Given the description of an element on the screen output the (x, y) to click on. 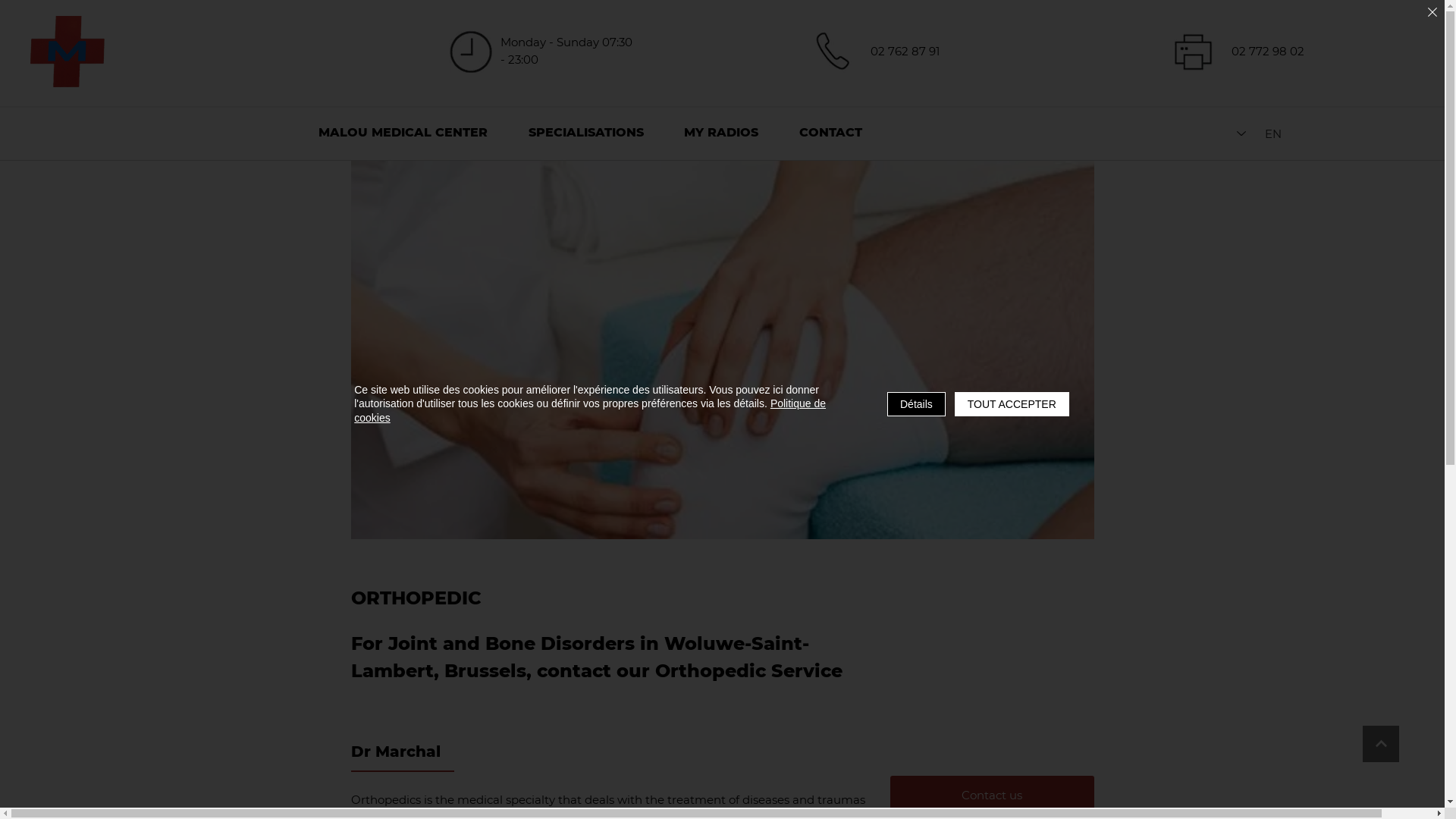
Politique de cookies Element type: text (589, 410)
MY RADIOS Element type: text (721, 134)
SPECIALISATIONS Element type: text (585, 134)
CONTACT Element type: text (830, 134)
MALOU MEDICAL CENTER Element type: text (402, 134)
02 762 87 91 Element type: text (904, 50)
Contact us Element type: text (992, 795)
TOUT ACCEPTER Element type: text (1011, 403)
